Given the description of an element on the screen output the (x, y) to click on. 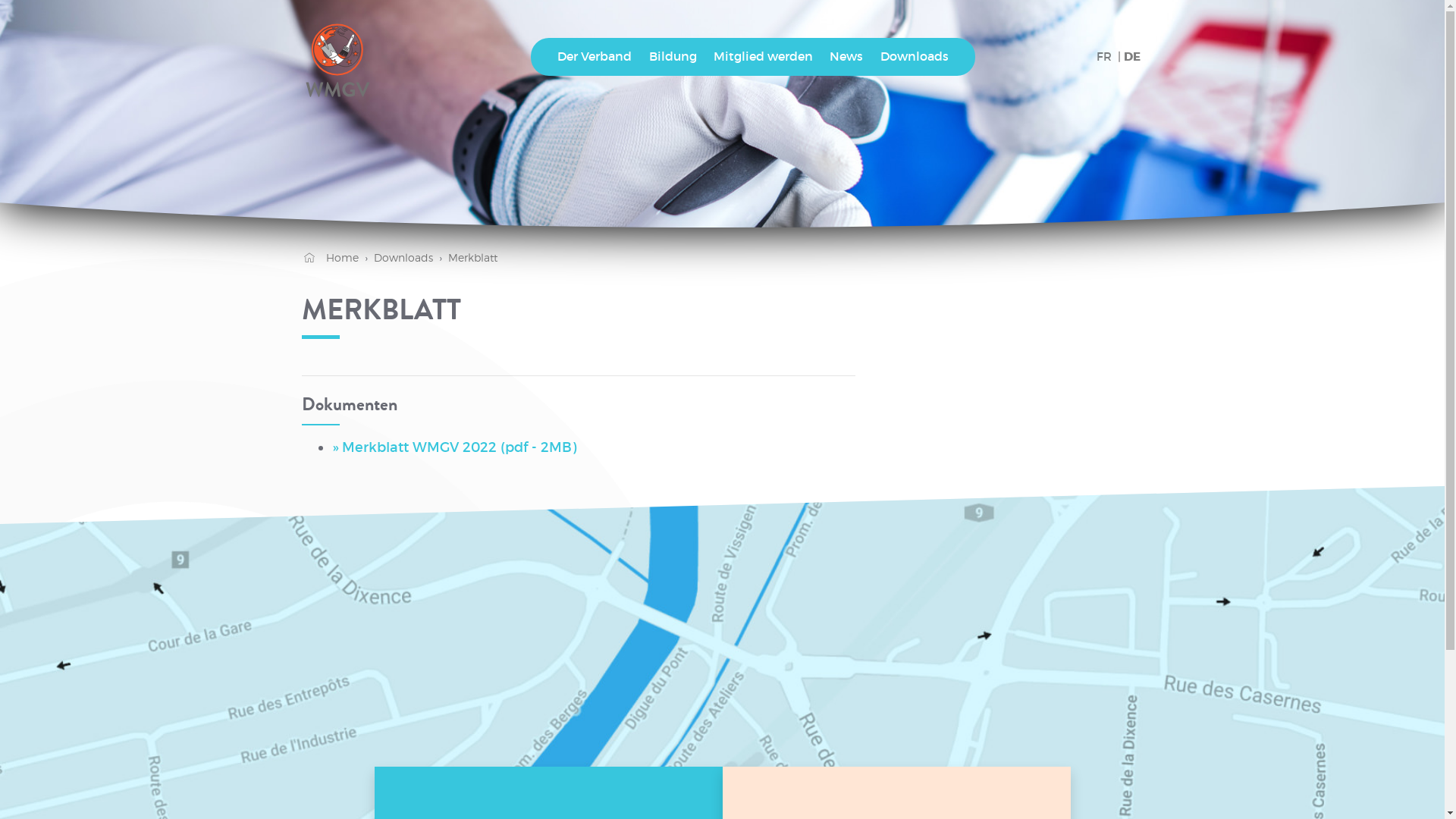
Mitglied werden Element type: text (763, 56)
logo AVMPP Element type: hover (337, 56)
Der Verband Element type: text (594, 56)
Bildung Element type: text (672, 56)
Downloads Element type: text (914, 56)
DE Element type: text (1131, 56)
FR Element type: text (1103, 56)
Merkblatt Element type: text (465, 257)
News Element type: text (846, 56)
Home Element type: text (329, 257)
Downloads Element type: text (395, 257)
